Given the description of an element on the screen output the (x, y) to click on. 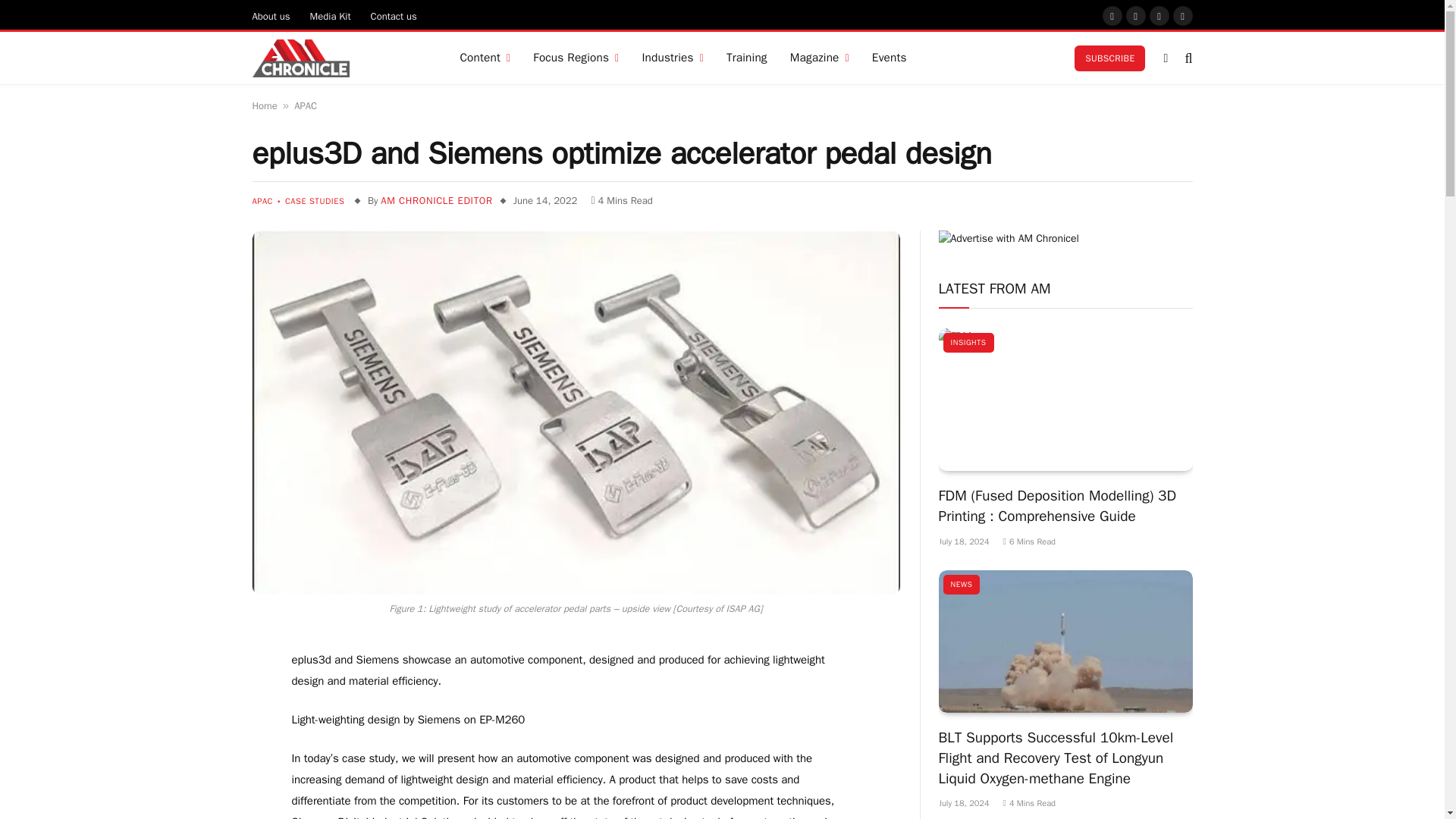
YouTube (1159, 15)
Content (484, 57)
Contact us (393, 15)
Facebook (1112, 15)
LinkedIn (1182, 15)
About us (271, 15)
AM Chronicle (300, 58)
Instagram (1135, 15)
Media Kit (330, 15)
